Given the description of an element on the screen output the (x, y) to click on. 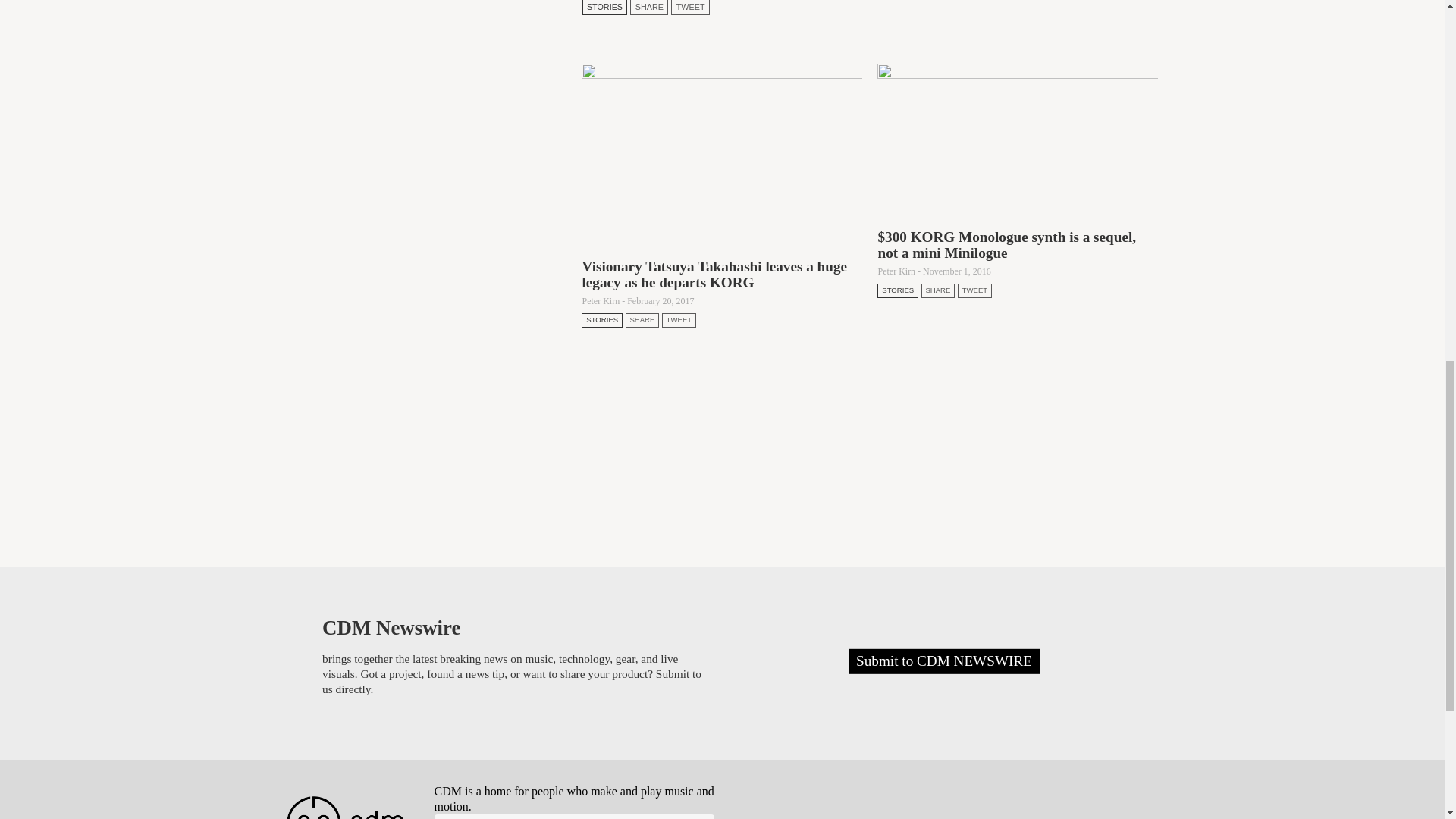
TWEET (690, 7)
STORIES (604, 7)
SHARE (642, 319)
SHARE (649, 7)
STORIES (601, 319)
